Given the description of an element on the screen output the (x, y) to click on. 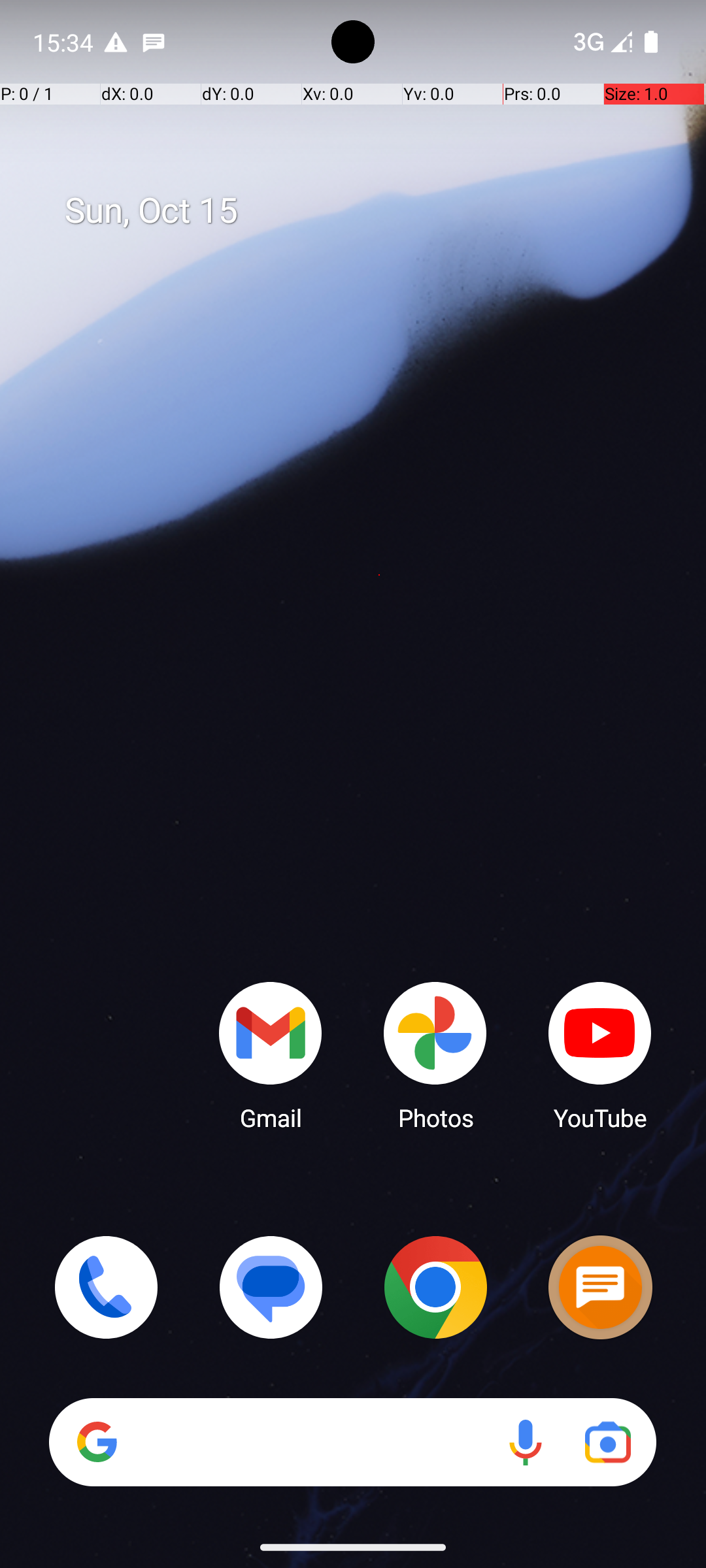
SMS Messenger Element type: android.widget.TextView (599, 1287)
